Given the description of an element on the screen output the (x, y) to click on. 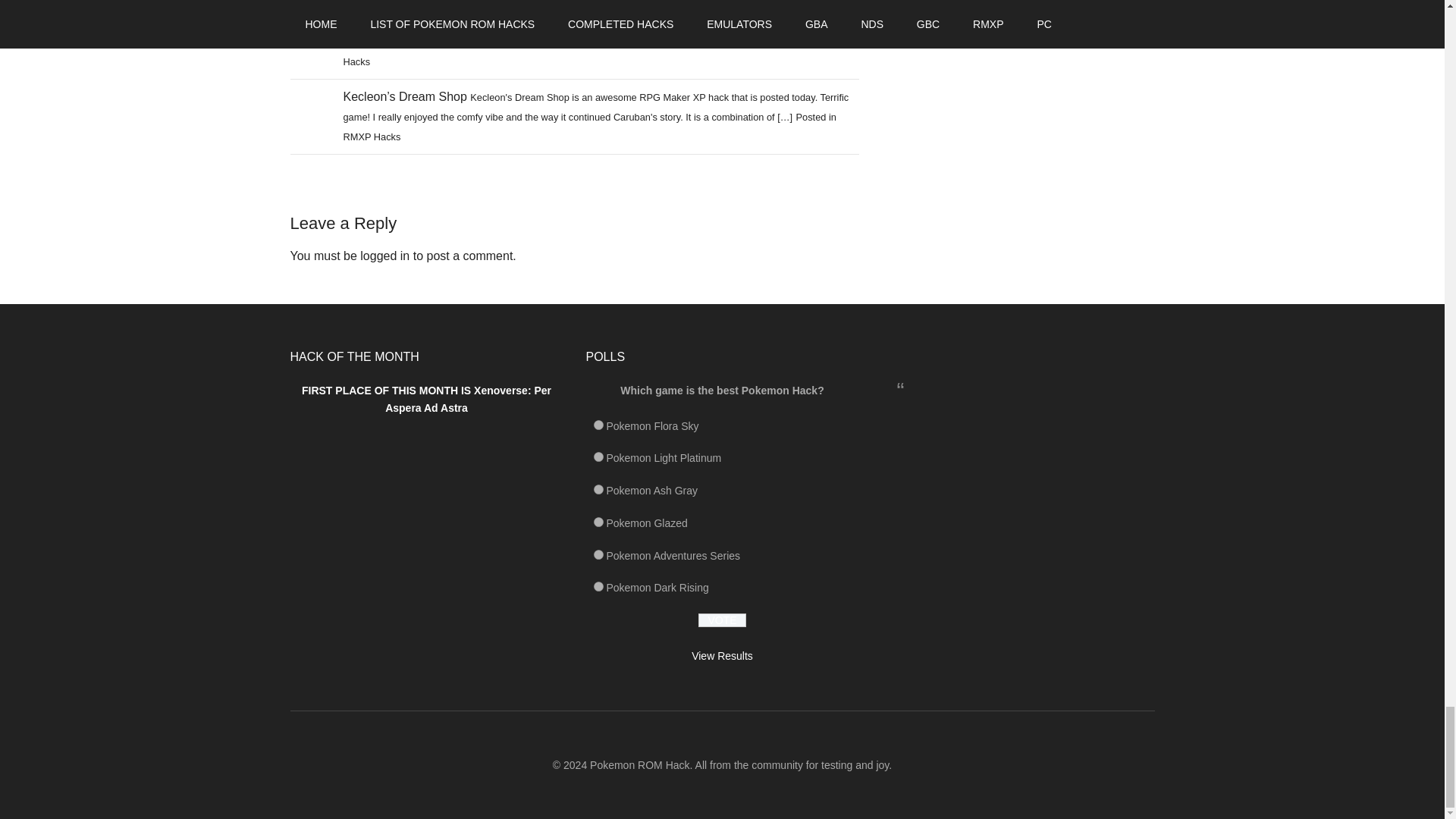
8 (597, 489)
9 (597, 521)
   Vote    (721, 620)
6 (597, 424)
11 (597, 554)
7 (597, 456)
12 (597, 586)
